Given the description of an element on the screen output the (x, y) to click on. 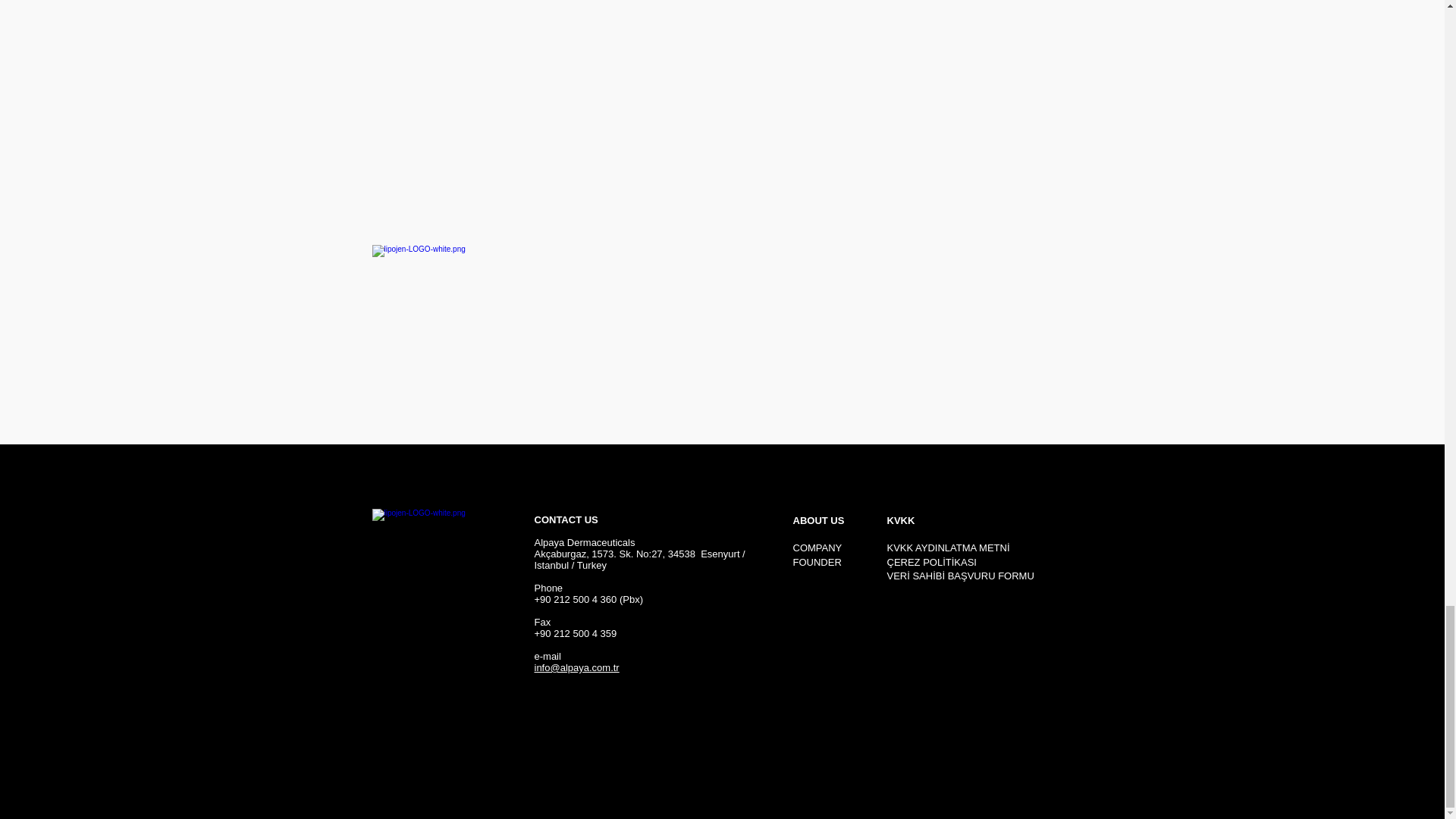
FOUNDER (817, 562)
COMPANY (818, 547)
